Given the description of an element on the screen output the (x, y) to click on. 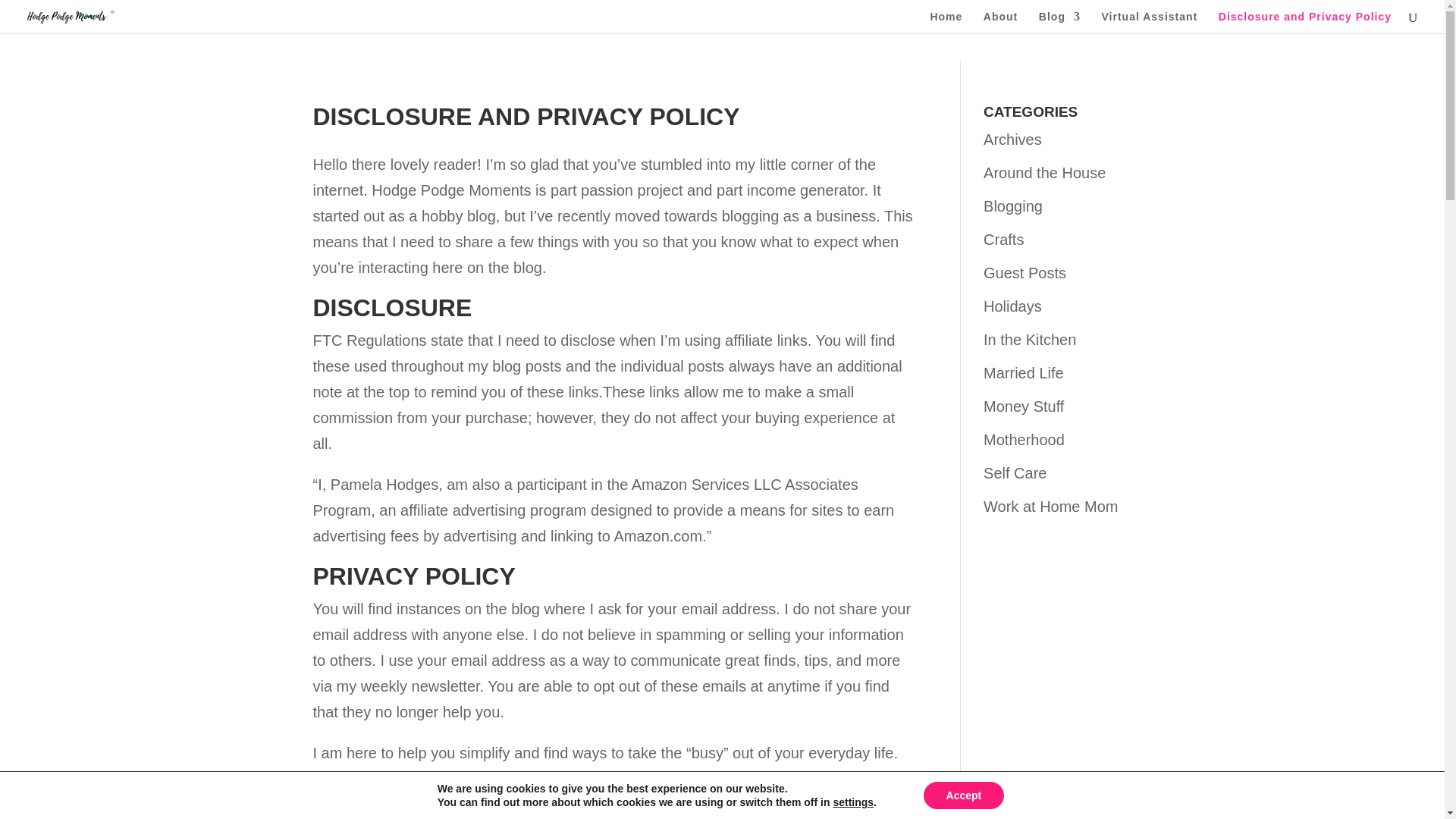
Blogging (1013, 206)
Self Care (1015, 473)
Virtual Assistant (1150, 22)
Holidays (1013, 306)
Married Life (1024, 372)
Motherhood (1024, 439)
Blog (1059, 22)
In the Kitchen (1029, 339)
Disclosure and Privacy Policy (1304, 22)
Money Stuff (1024, 406)
